Given the description of an element on the screen output the (x, y) to click on. 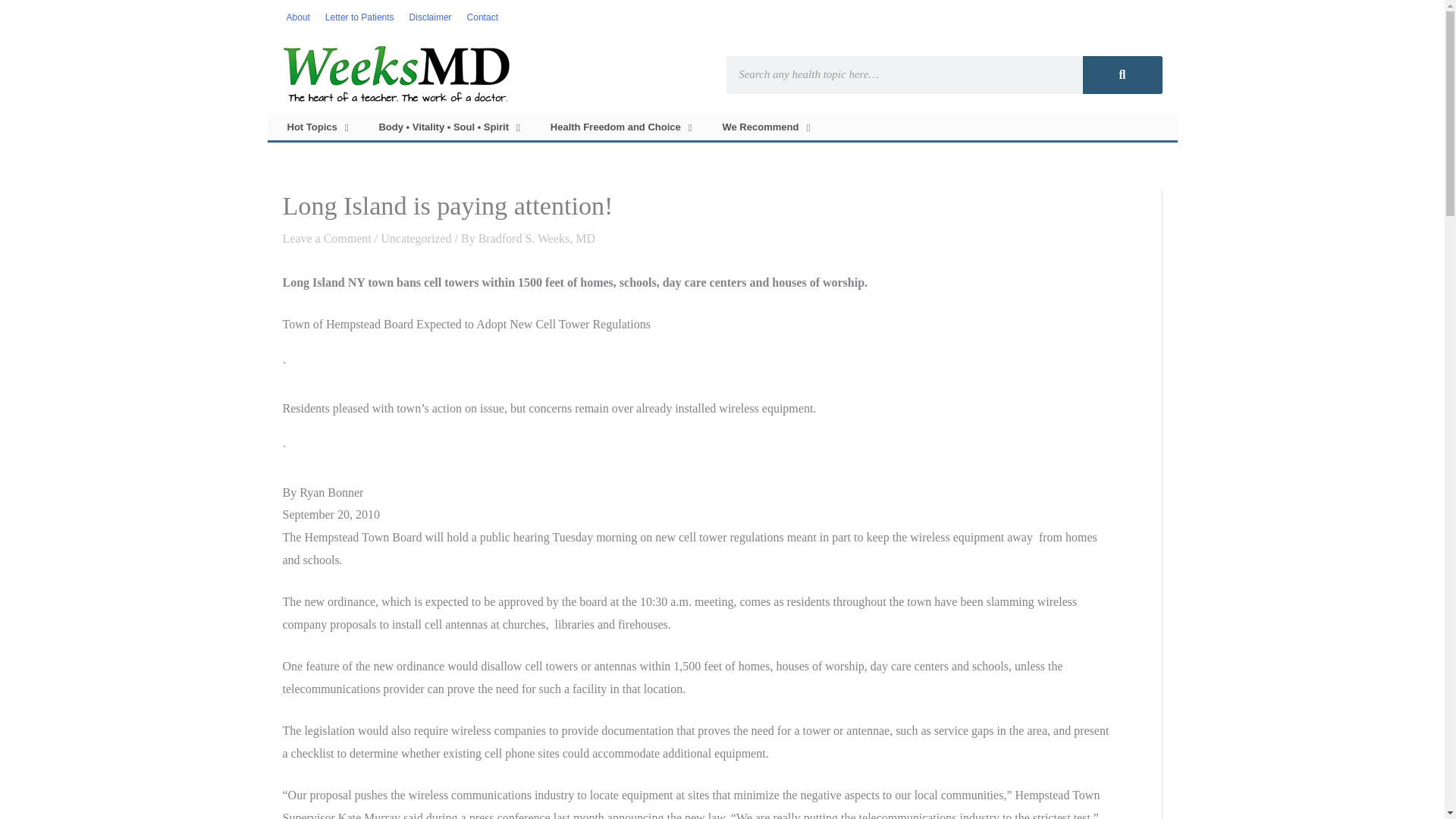
View all posts by Bradford S. Weeks, MD (537, 237)
